Given the description of an element on the screen output the (x, y) to click on. 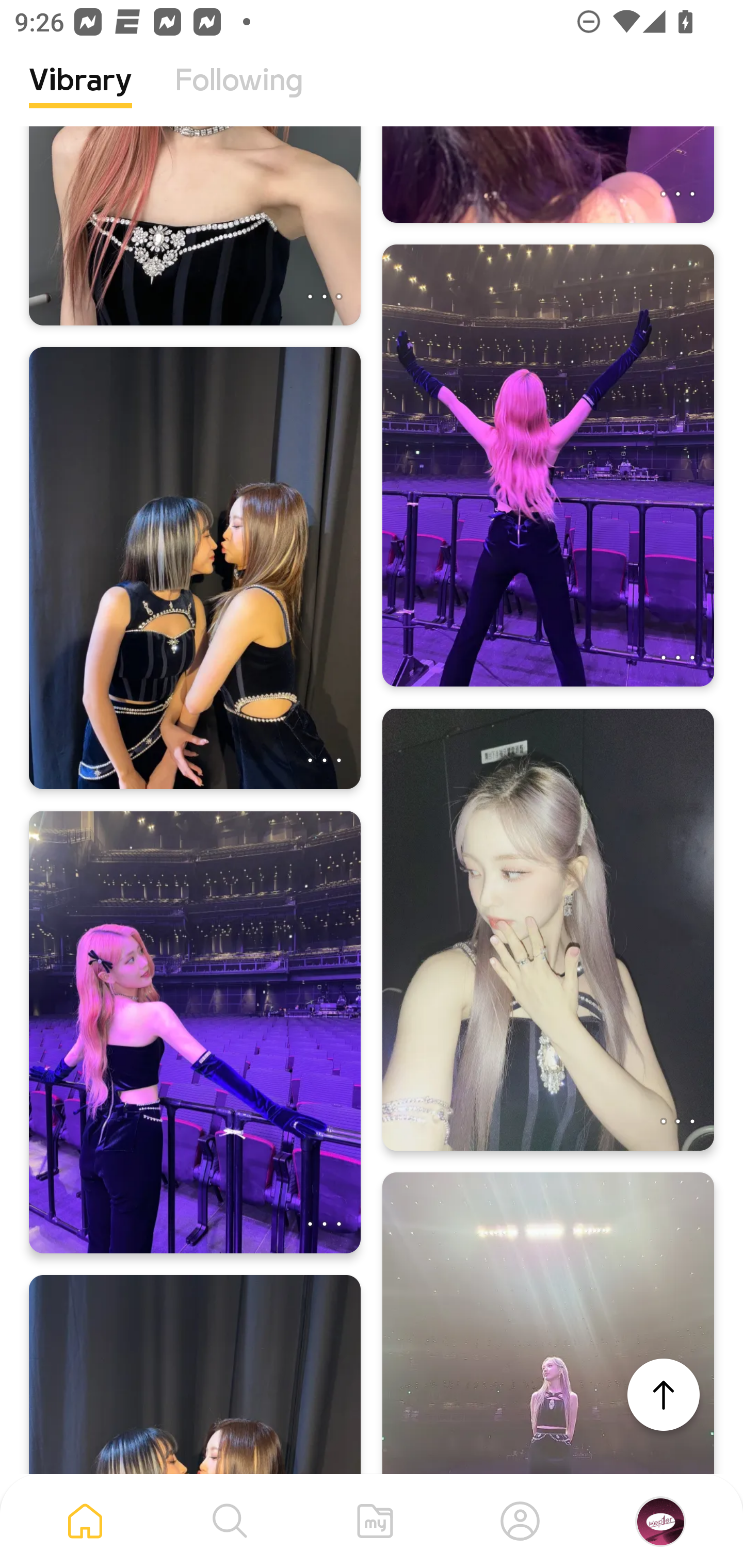
Vibrary (80, 95)
Following (239, 95)
